Given the description of an element on the screen output the (x, y) to click on. 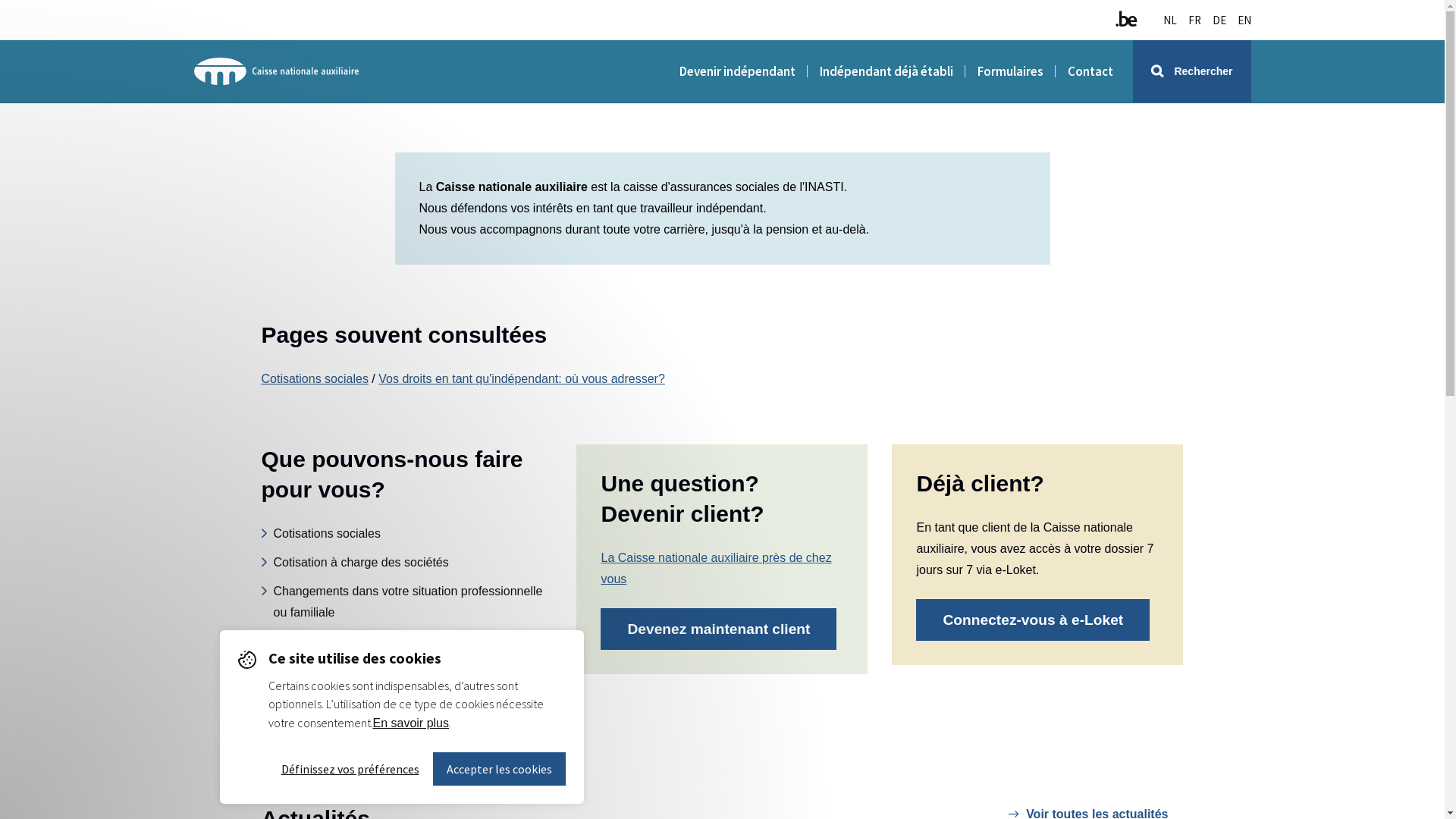
EN Element type: text (1244, 19)
Accepter les cookies Element type: text (498, 768)
Formulaires Element type: text (1010, 71)
Go to the homepage Element type: hover (276, 70)
NL Element type: text (1169, 19)
Devenez maintenant client Element type: text (718, 629)
Famille et enfants Element type: text (314, 641)
FR Element type: text (1193, 19)
DE Element type: text (1218, 19)
En savoir plus Element type: text (411, 722)
Cotisations sociales Element type: text (313, 378)
Aller au contenu principal Element type: text (0, 0)
Rechercher Element type: text (1191, 71)
Contact Element type: text (1090, 71)
Cotisations sociales Element type: text (319, 533)
Pensions Element type: text (291, 720)
